Given the description of an element on the screen output the (x, y) to click on. 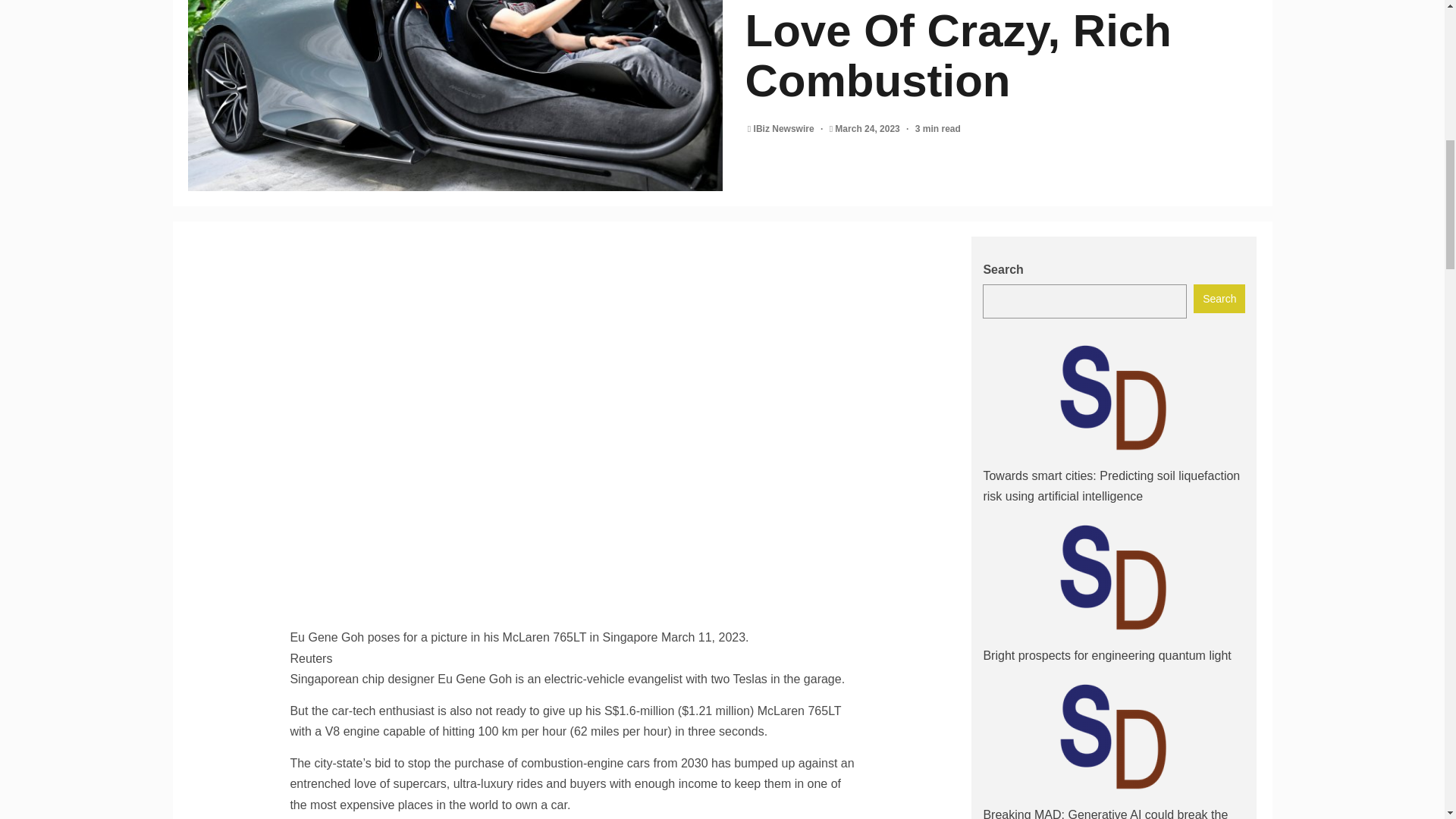
Bright prospects for engineering quantum light (1106, 655)
IBiz Newswire (785, 128)
Search (1218, 298)
